Given the description of an element on the screen output the (x, y) to click on. 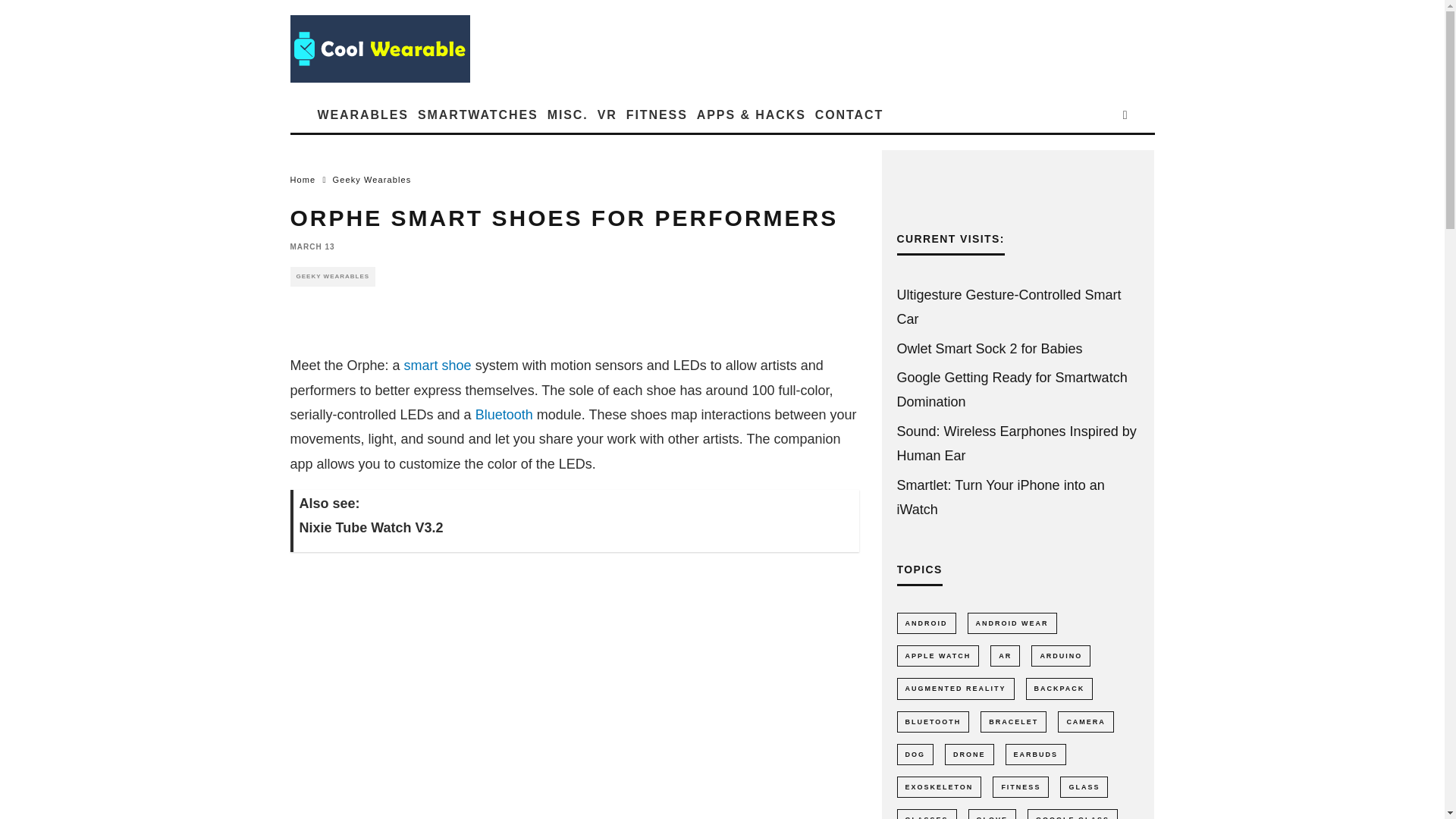
SMARTWATCHES (478, 114)
Le Chal Smartshoe for the Blind (437, 365)
MISC. (567, 114)
WEARABLES (362, 114)
